Given the description of an element on the screen output the (x, y) to click on. 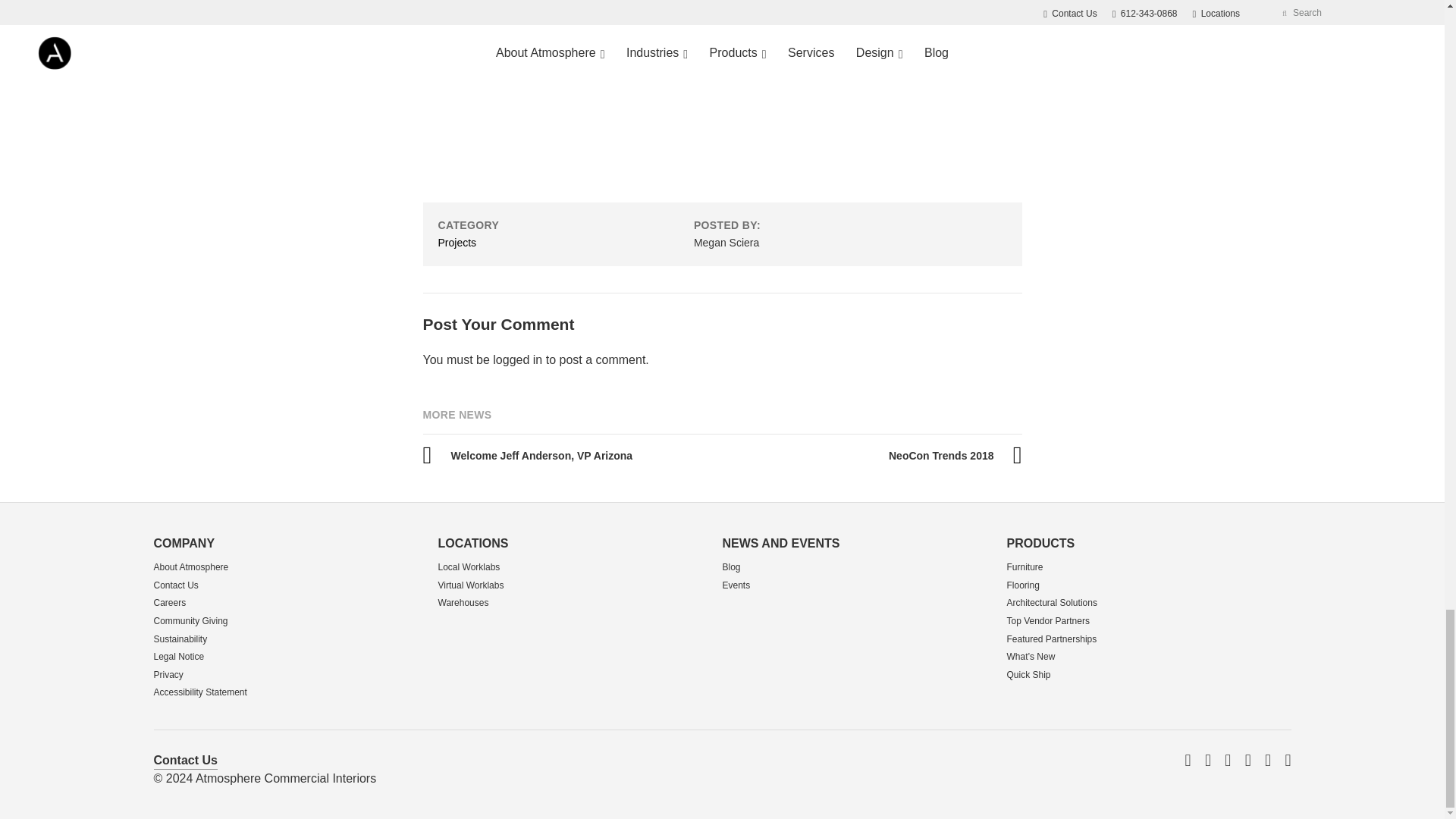
NeoCon Trends 2018 (955, 454)
COMPANY (183, 543)
Sustainability (179, 638)
Contact Us (175, 584)
logged in (517, 359)
Community Giving (189, 620)
Welcome Jeff Anderson, VP Arizona (528, 454)
Legal Notice (177, 656)
Privacy (167, 674)
Careers (169, 602)
About Atmosphere (190, 566)
Projects (457, 242)
LOCATIONS (473, 543)
Local Worklabs (469, 566)
Accessibility Statement (199, 692)
